Given the description of an element on the screen output the (x, y) to click on. 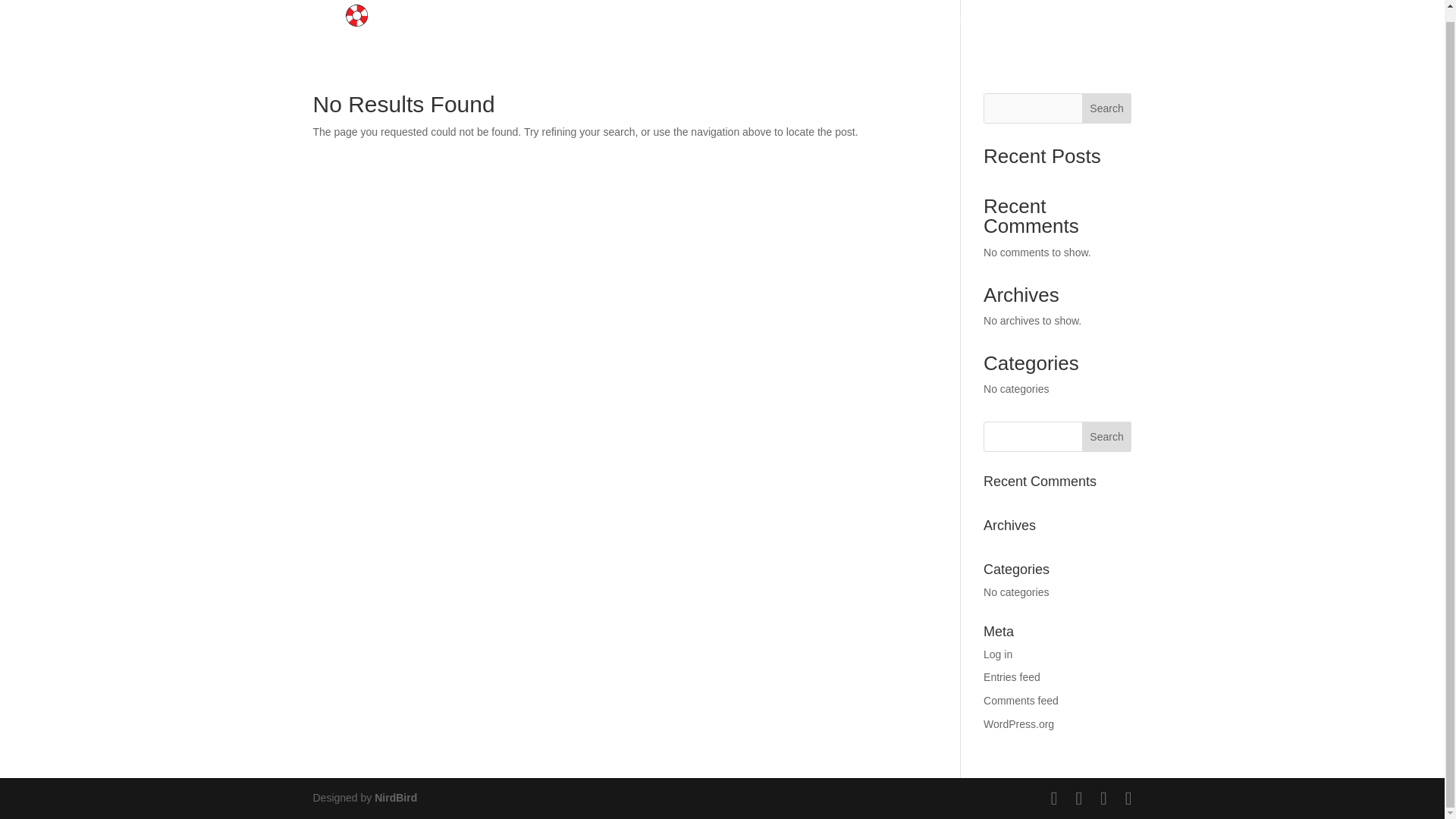
Home (674, 31)
Entries feed (1012, 676)
Resources (946, 31)
Search (1106, 436)
Contact (1079, 31)
Comments feed (1021, 700)
About (736, 31)
Utah Hope Squads (834, 31)
Search (1106, 436)
Log in (997, 654)
WordPress.org (1019, 724)
Search (1106, 108)
NirdBird (395, 797)
